Given the description of an element on the screen output the (x, y) to click on. 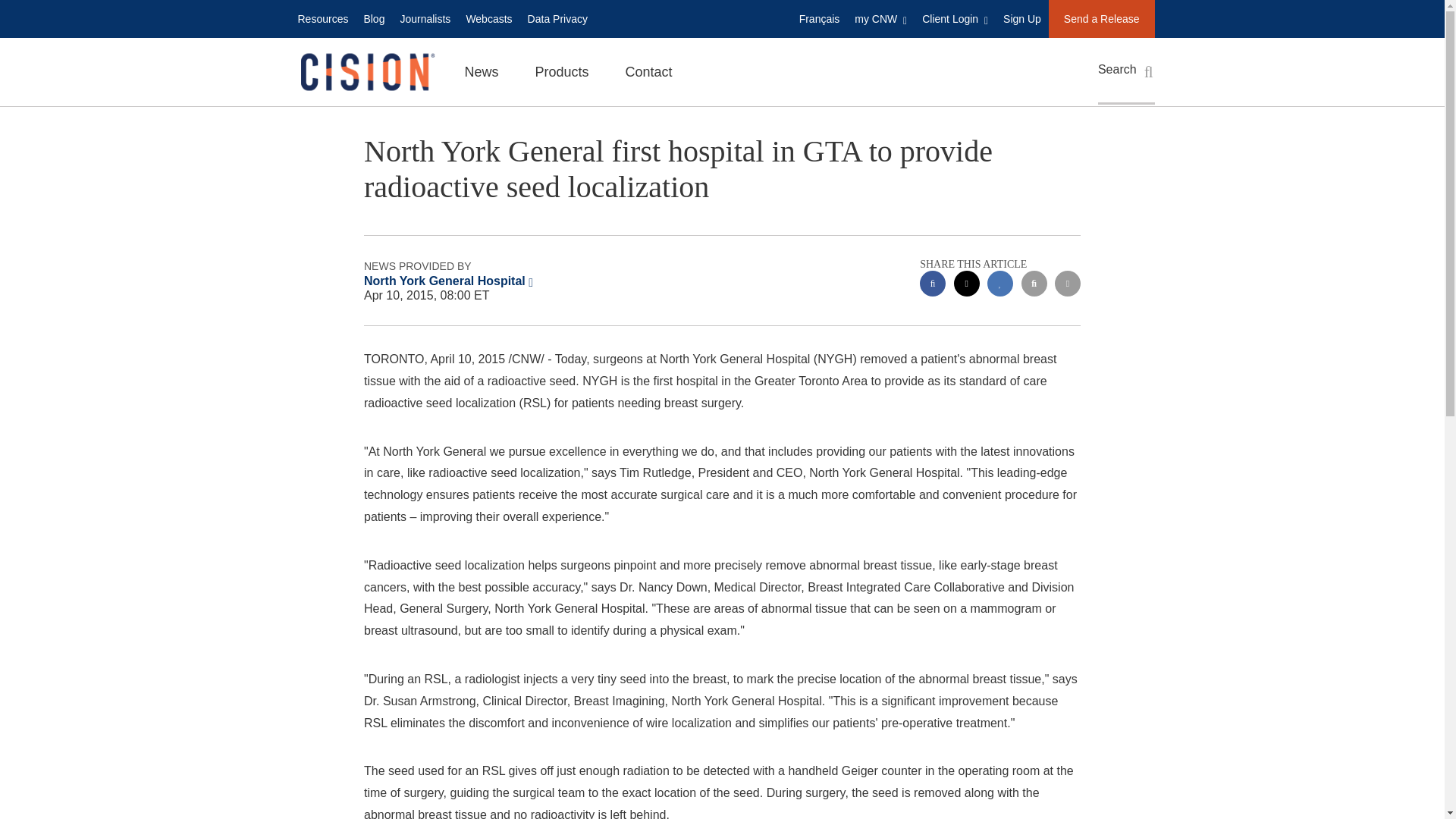
Cision Canada (366, 71)
Journalists (424, 18)
Data Privacy (557, 18)
my CNW  (880, 18)
Client Login  (954, 18)
News (480, 71)
Blog (373, 18)
Contact (648, 71)
Send a Release (1101, 18)
Resources (322, 18)
